Given the description of an element on the screen output the (x, y) to click on. 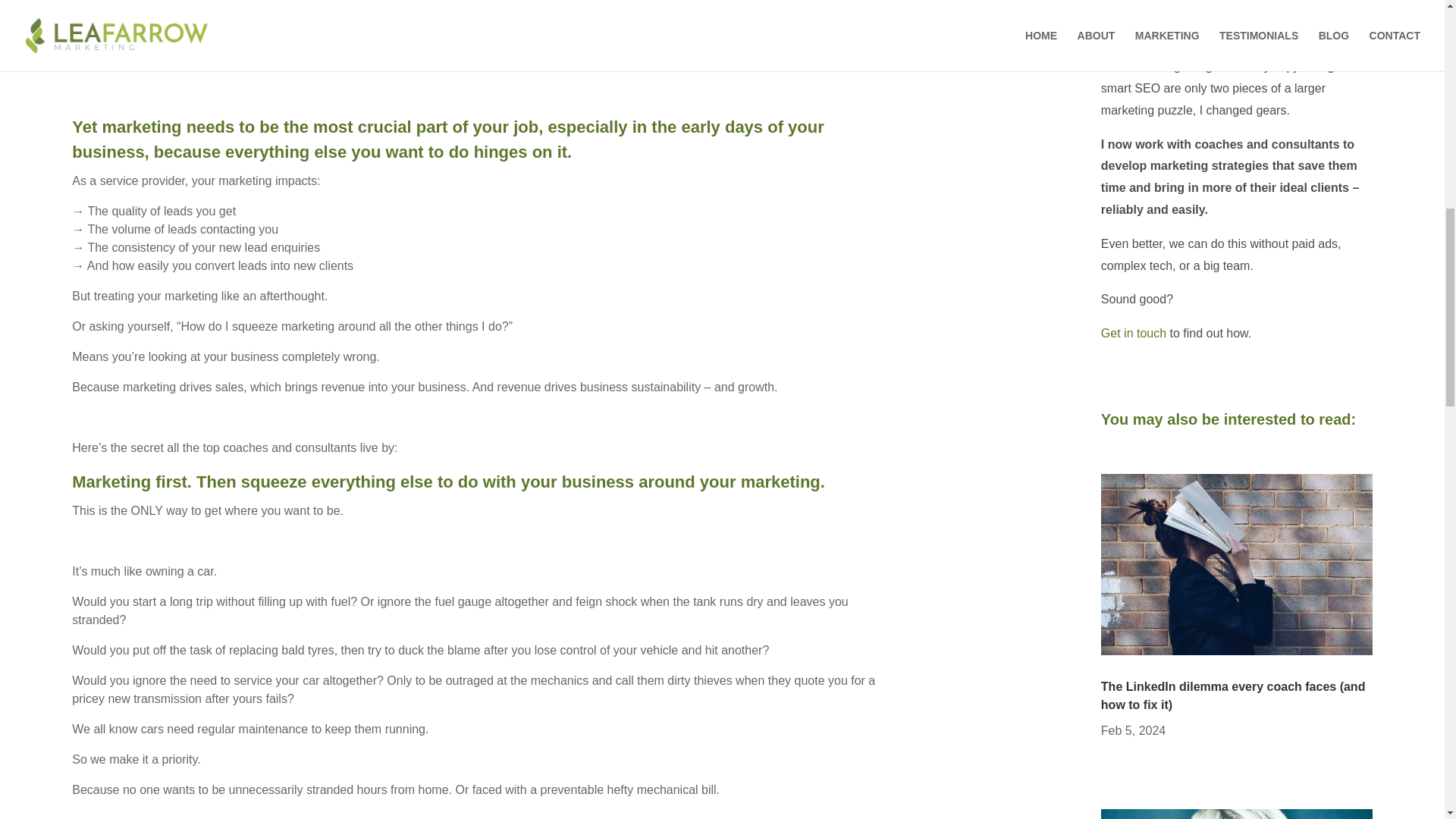
Get in touch (1133, 332)
